Given the description of an element on the screen output the (x, y) to click on. 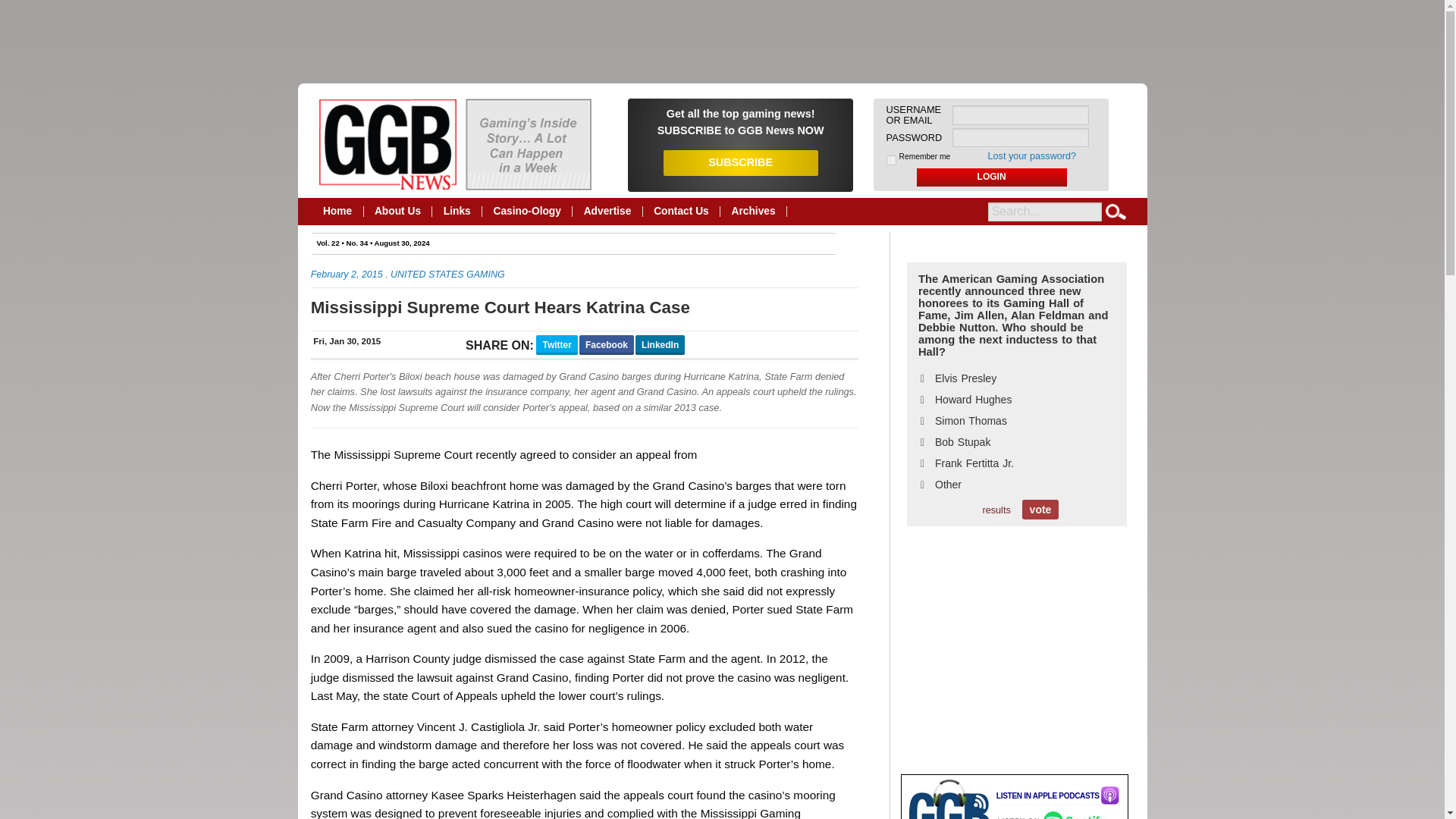
LinkedIn (659, 344)
Twitter (555, 344)
Advertise (607, 211)
Contact Us (681, 211)
GGB Podcasts (944, 811)
Archives (753, 211)
Home (338, 211)
Links (456, 211)
3rd party ad content (1014, 656)
LISTEN IN APPLE PODCASTS (1057, 795)
